Given the description of an element on the screen output the (x, y) to click on. 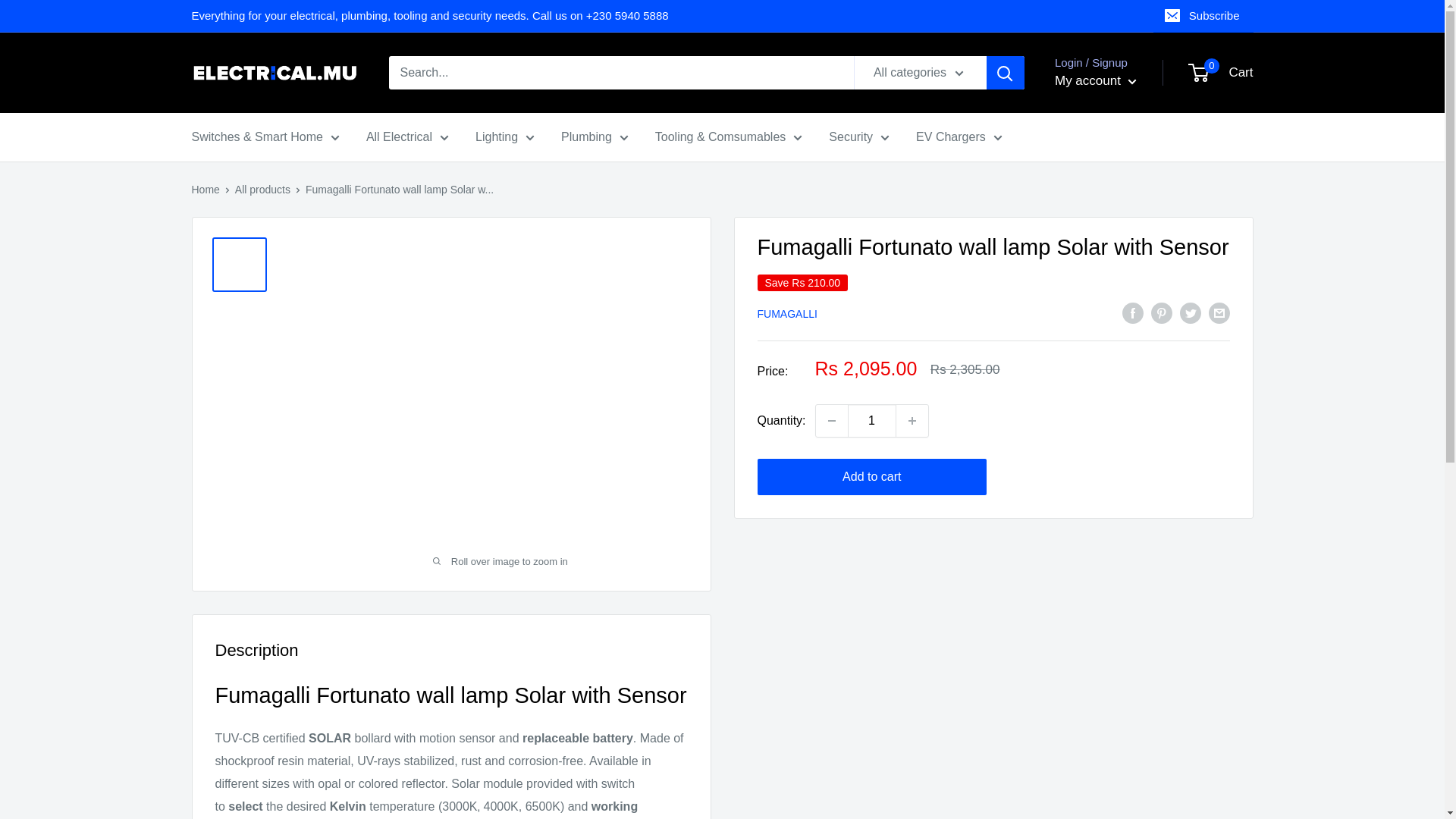
1 (871, 420)
Decrease quantity by 1 (831, 420)
Increase quantity by 1 (912, 420)
Subscribe (1203, 15)
